Given the description of an element on the screen output the (x, y) to click on. 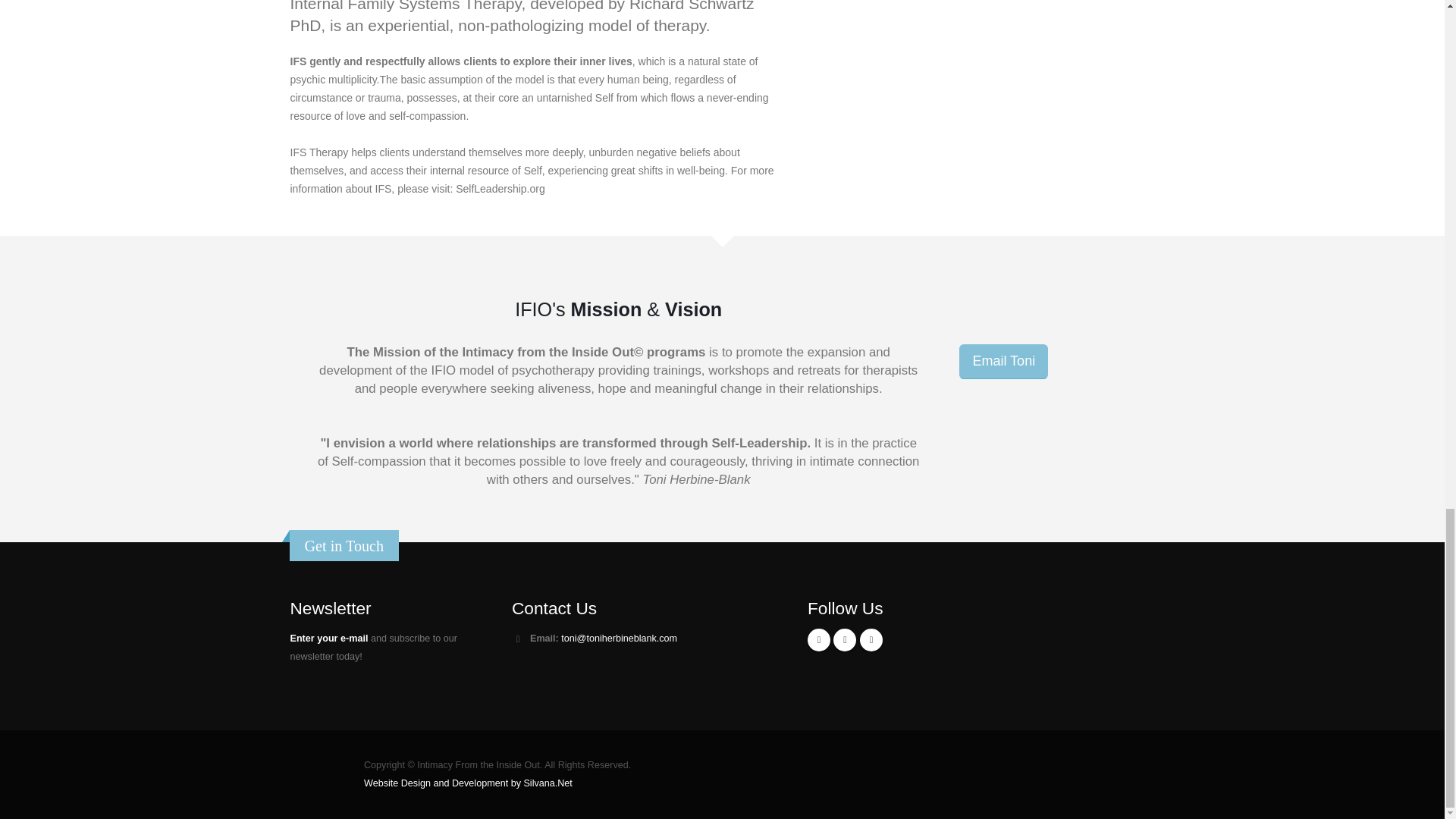
Youtube (844, 639)
Enter your e-mail (328, 638)
Facebook (818, 639)
Instagram (871, 639)
Website Design and Development by Silvana.Net (468, 783)
Email Toni (1003, 361)
